Given the description of an element on the screen output the (x, y) to click on. 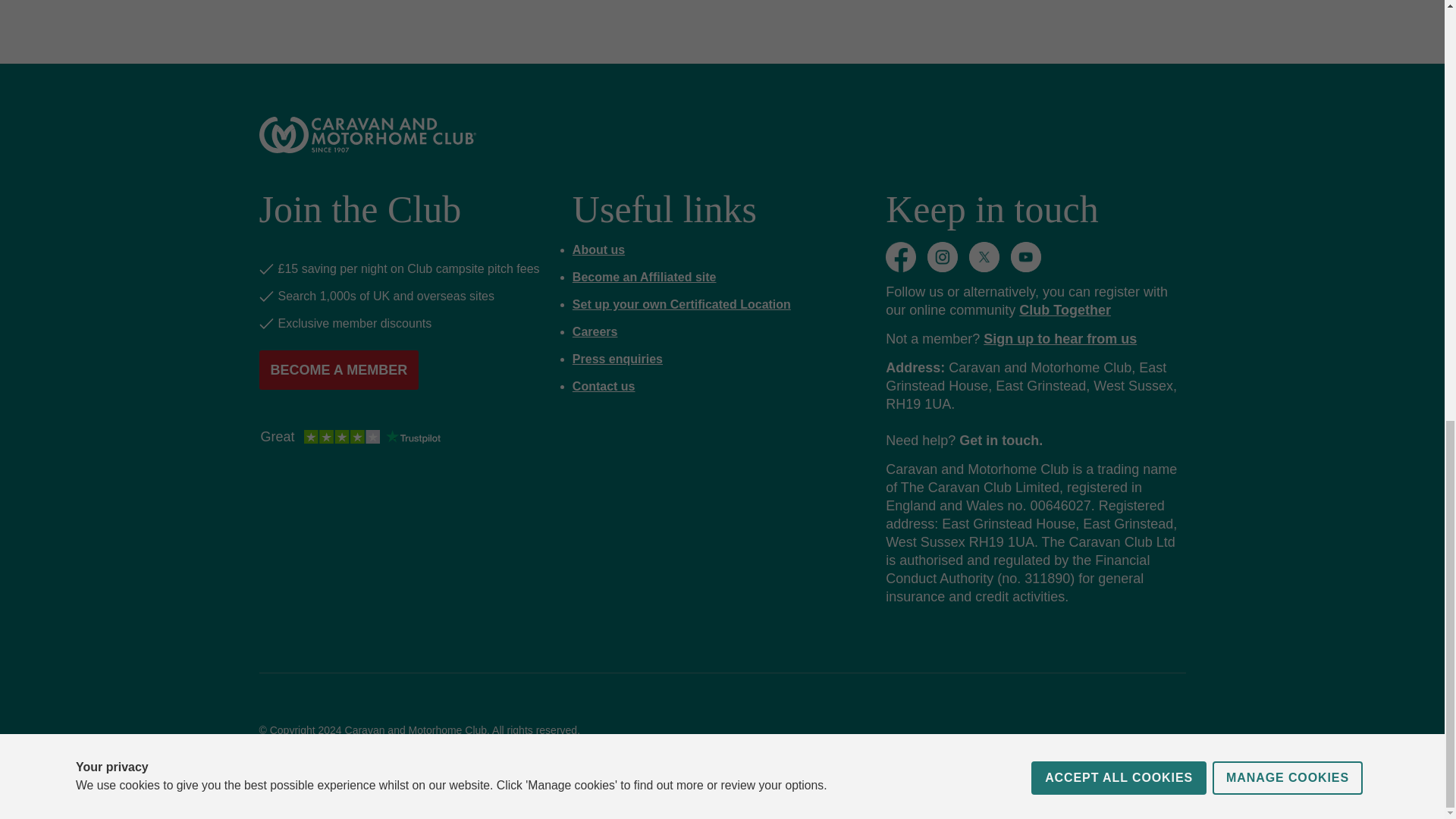
YouTube (1025, 256)
Facebook (900, 256)
Twitter (983, 256)
Instagram (942, 256)
Customer reviews powered by Trustpilot (349, 438)
Club Together (1064, 309)
